Given the description of an element on the screen output the (x, y) to click on. 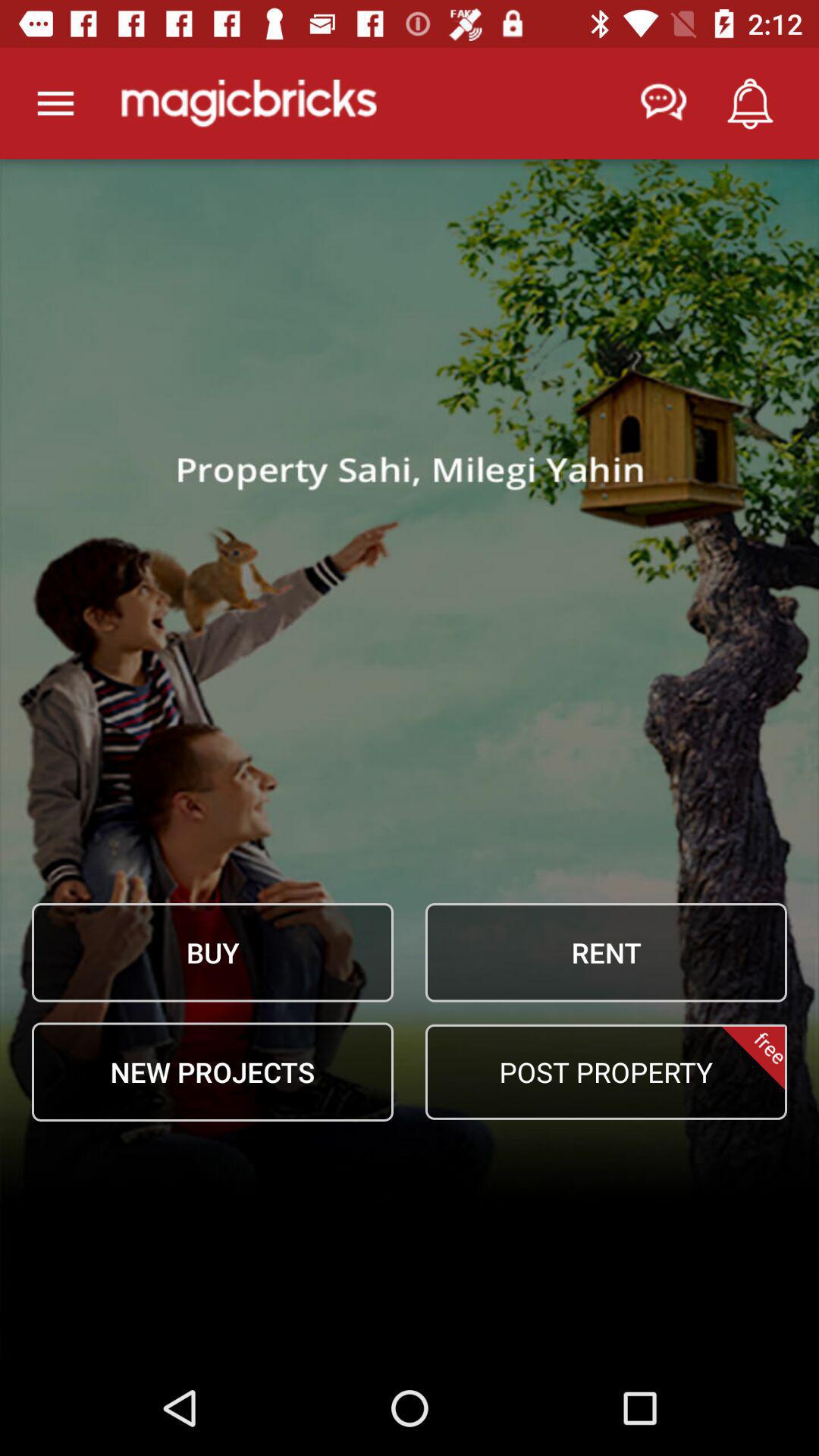
turn on rent on the right (606, 952)
